Given the description of an element on the screen output the (x, y) to click on. 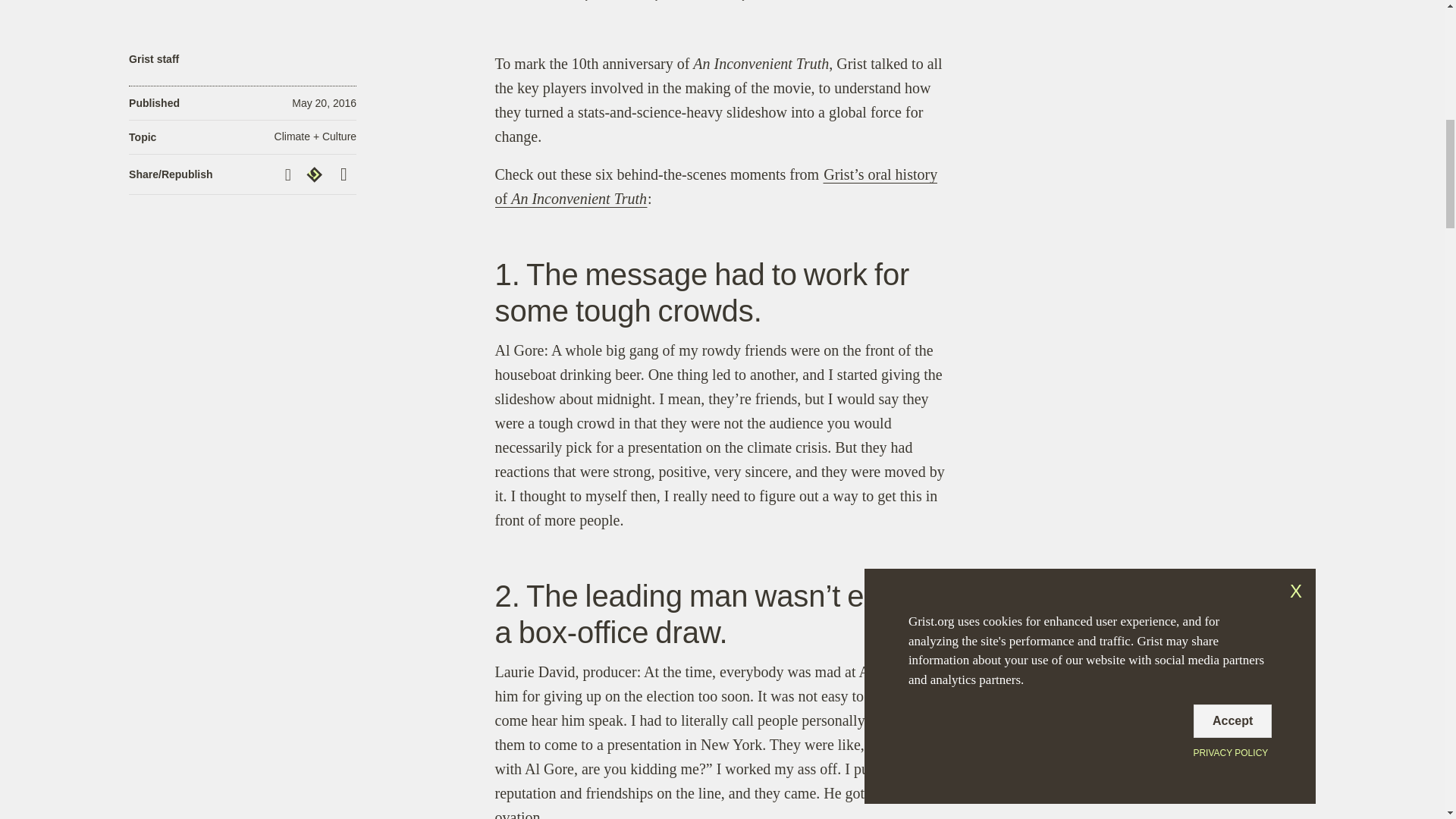
Republish the article (316, 174)
Copy article link (289, 174)
